Given the description of an element on the screen output the (x, y) to click on. 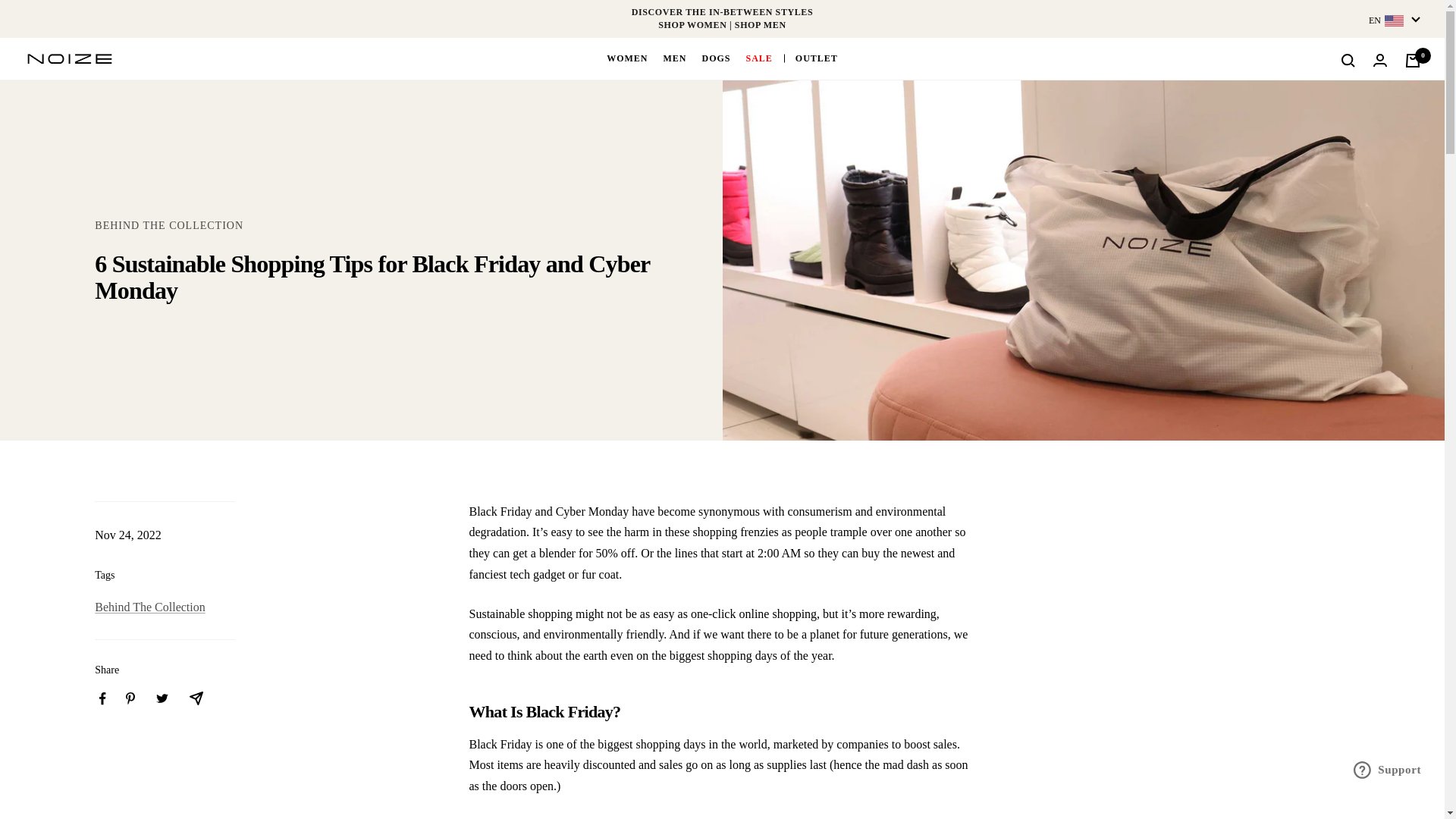
BEHIND THE COLLECTION (168, 225)
DOGS (715, 58)
EN (1394, 20)
OUTLET (816, 58)
MEN (673, 58)
Behind The Collection (149, 606)
USD (1369, 121)
WOMEN (627, 58)
SHOP MEN (760, 24)
SHOP WOMEN (692, 24)
